Given the description of an element on the screen output the (x, y) to click on. 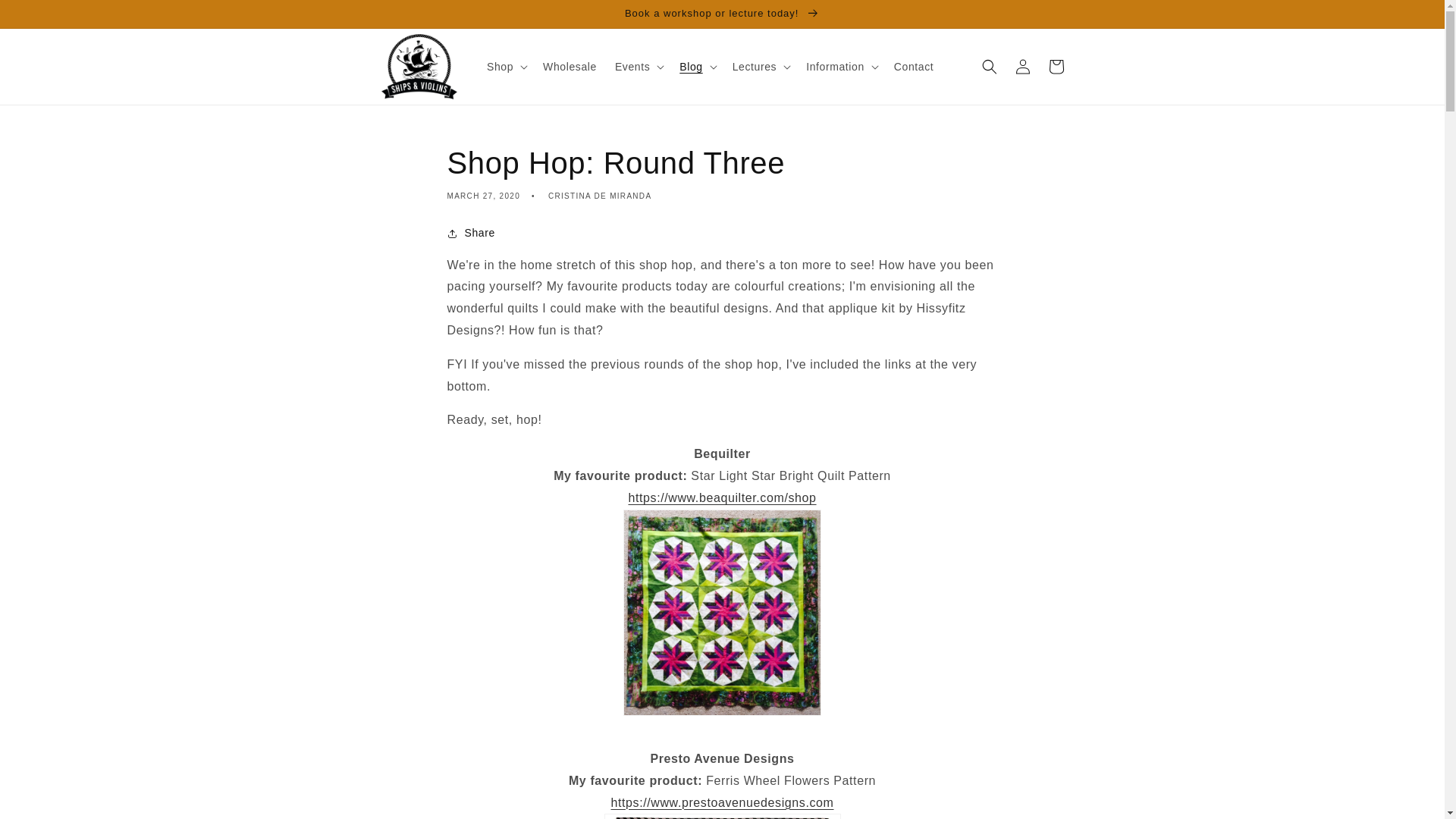
Wholesale (569, 66)
Skip to content (45, 17)
